Given the description of an element on the screen output the (x, y) to click on. 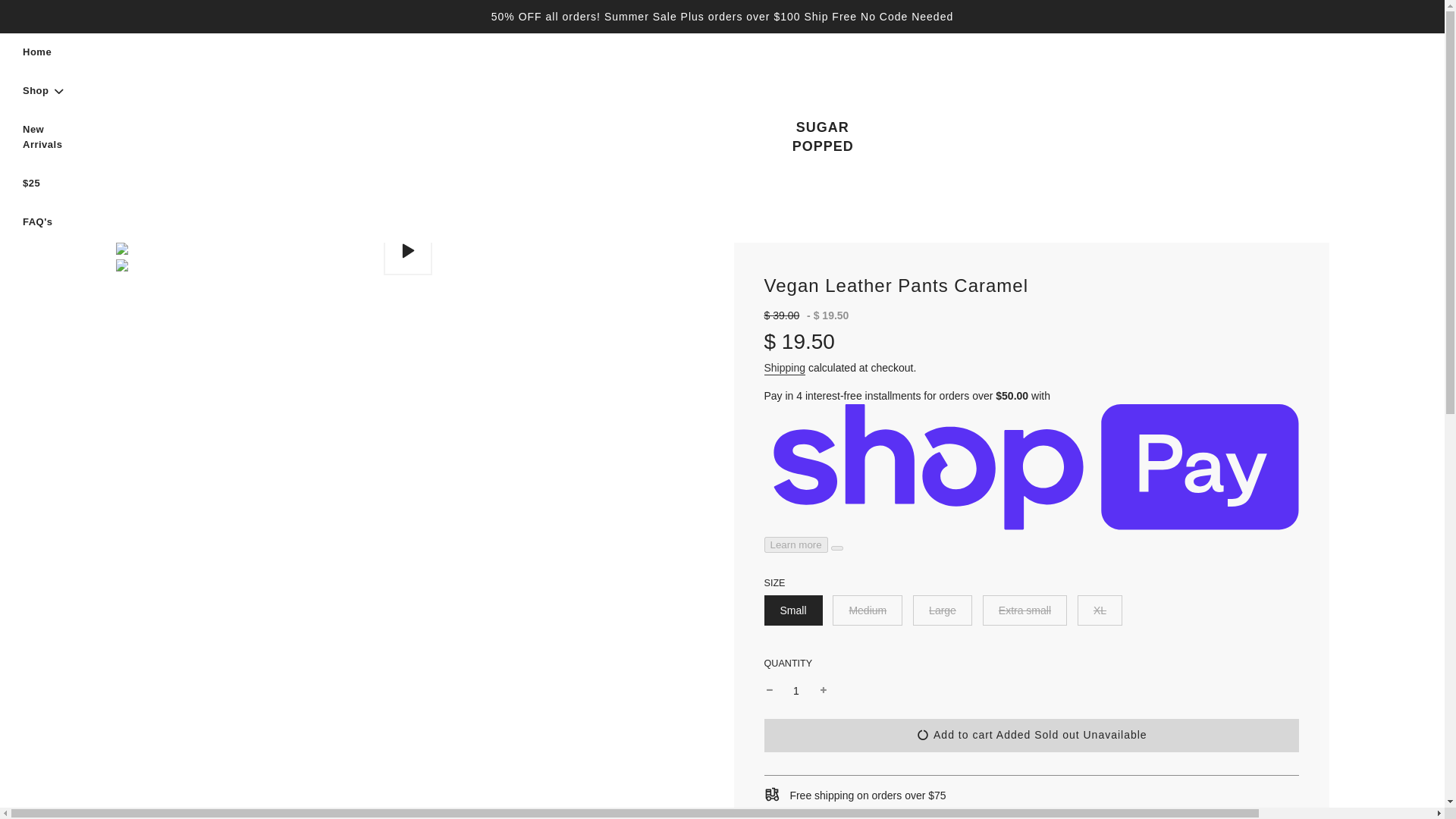
Shop (44, 91)
1 (796, 690)
SUGAR POPPED (822, 136)
Home (36, 52)
New Arrivals (44, 137)
